Given the description of an element on the screen output the (x, y) to click on. 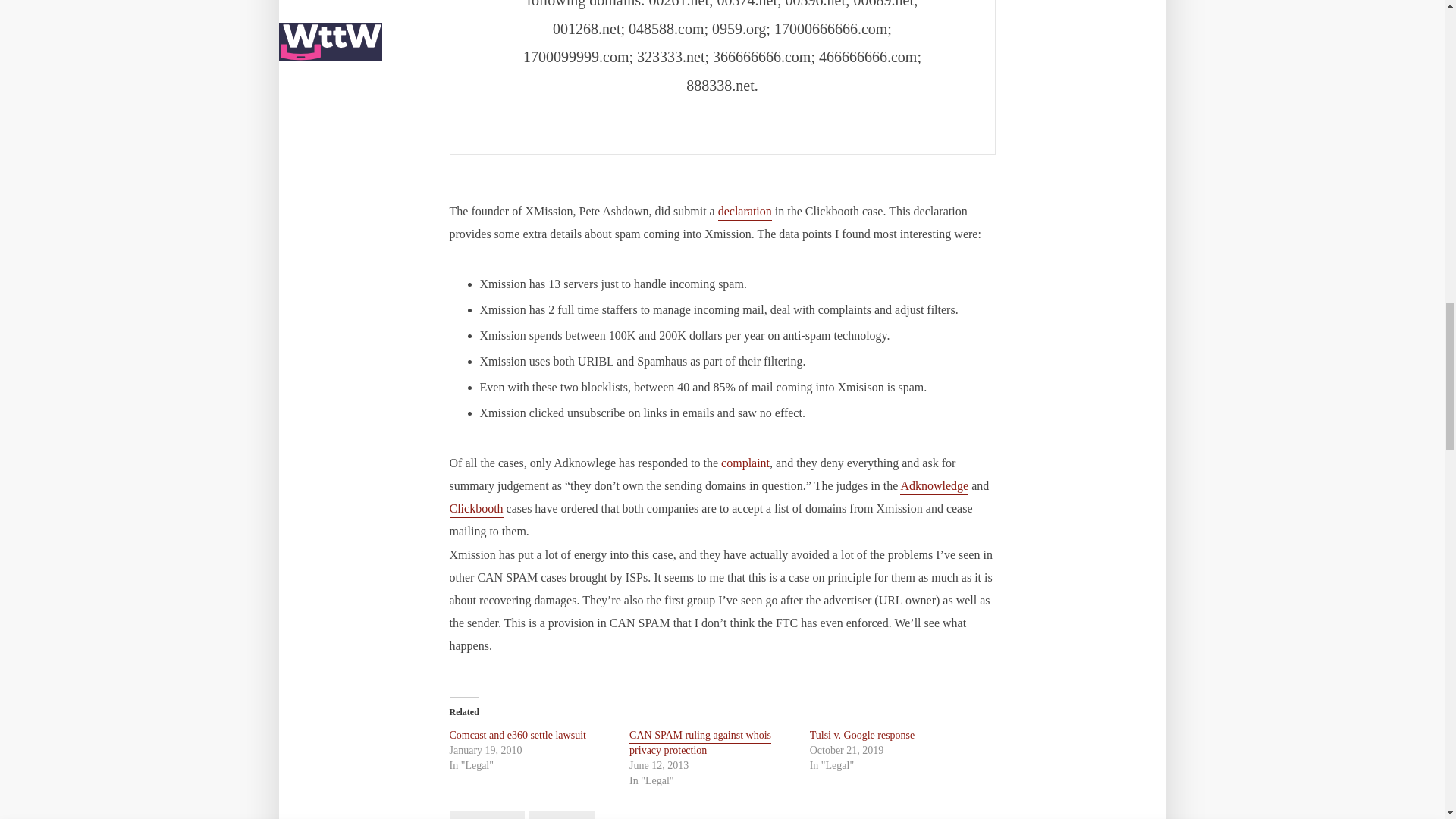
CAN SPAM (486, 815)
CAN SPAM ruling against whois privacy protection (699, 744)
CAN SPAM ruling against whois privacy protection (699, 744)
declaration (744, 212)
Tulsi v. Google response (862, 736)
Clickbooth (475, 509)
Adknowledge (933, 487)
complaint (745, 464)
spam law (561, 815)
Tulsi v. Google response (862, 736)
Comcast and e360 settle lawsuit (516, 736)
Comcast and e360 settle lawsuit (516, 736)
